Given the description of an element on the screen output the (x, y) to click on. 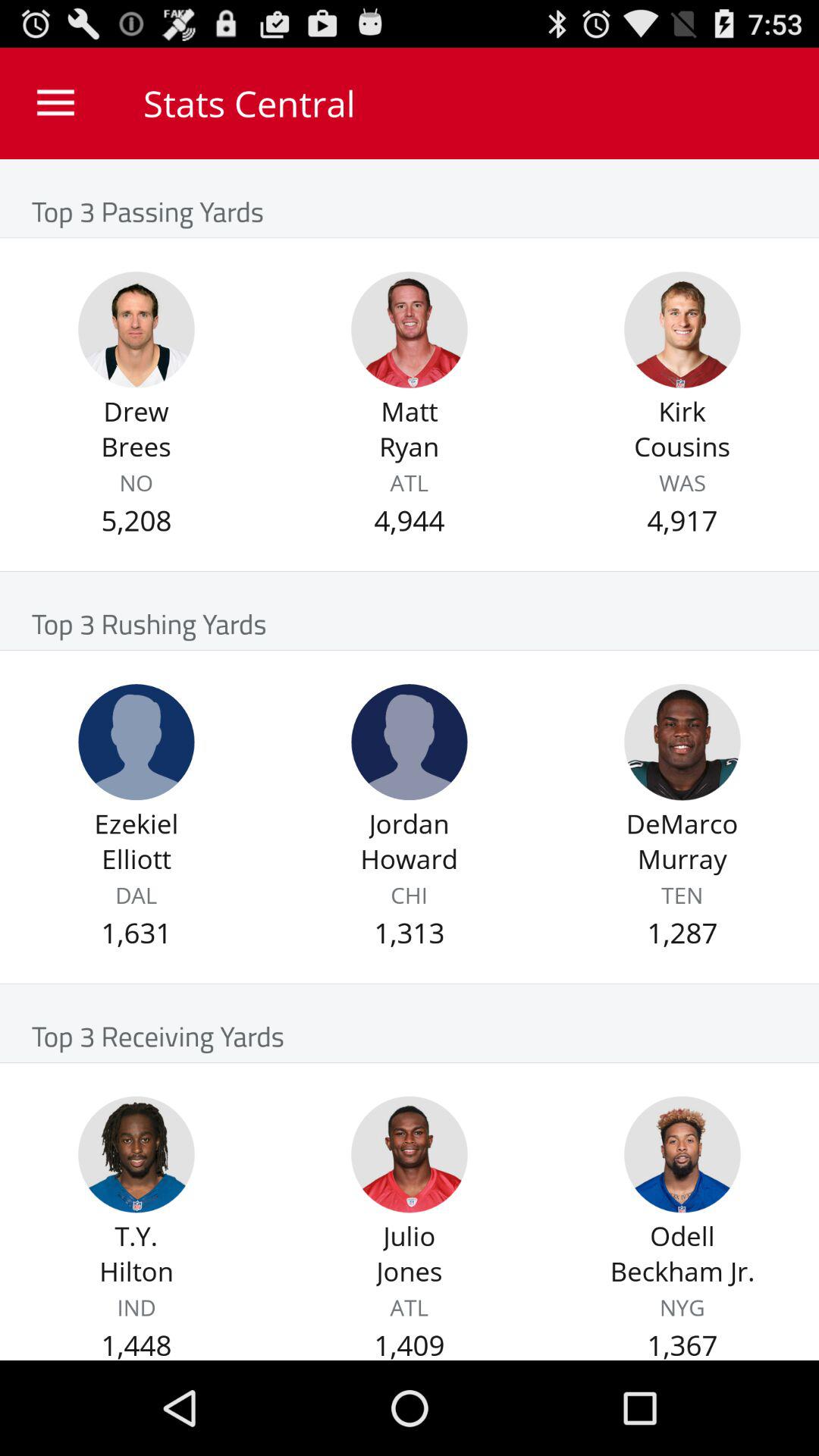
show information for player (136, 741)
